Given the description of an element on the screen output the (x, y) to click on. 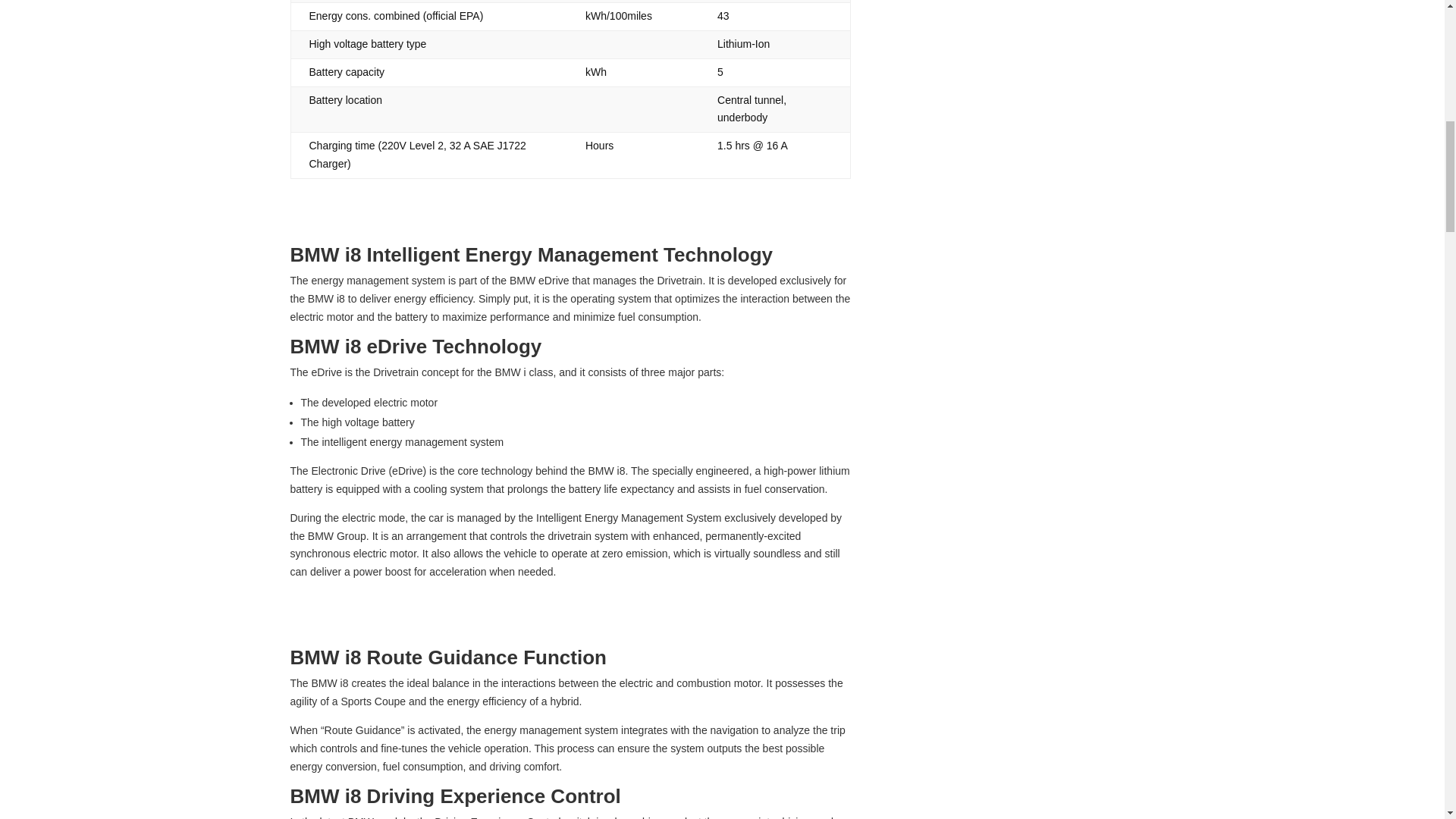
BMW i8 MPG (1026, 733)
